Given the description of an element on the screen output the (x, y) to click on. 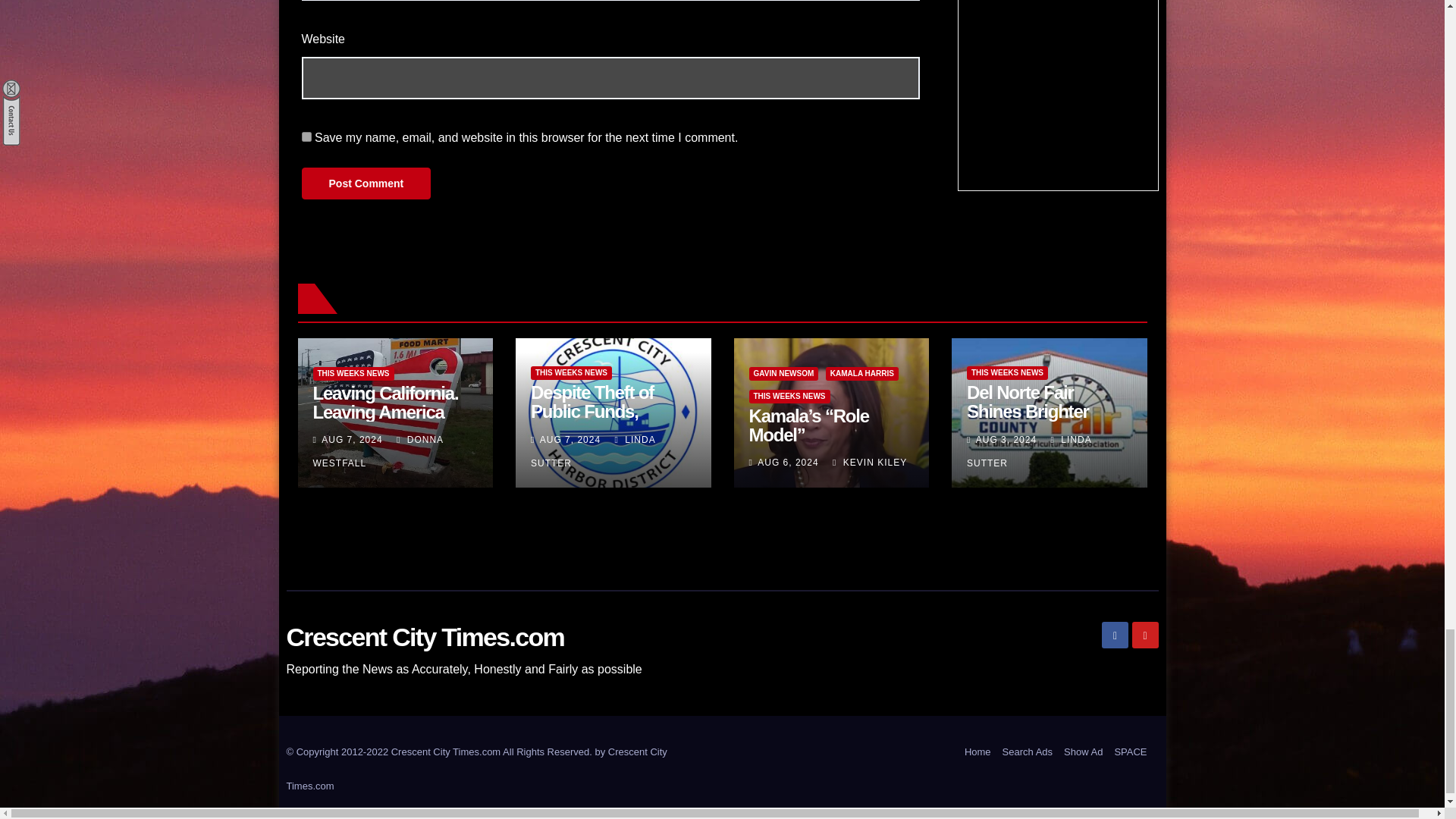
Post Comment (365, 183)
yes (306, 136)
